Given the description of an element on the screen output the (x, y) to click on. 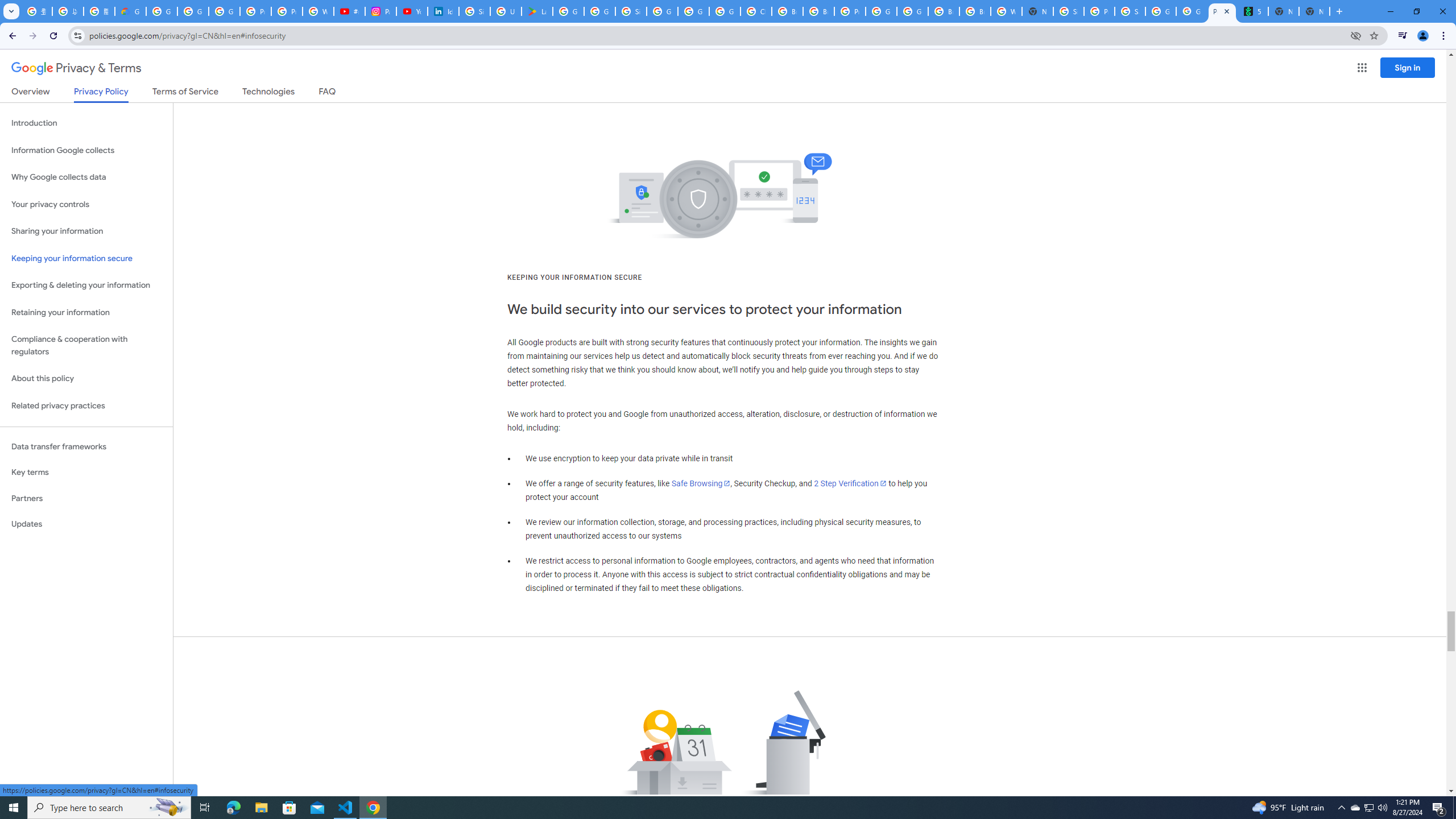
Sign in - Google Accounts (474, 11)
#nbabasketballhighlights - YouTube (349, 11)
New Tab (1314, 11)
Safe Browsing (700, 483)
Why Google collects data (86, 176)
Retaining your information (86, 312)
